Given the description of an element on the screen output the (x, y) to click on. 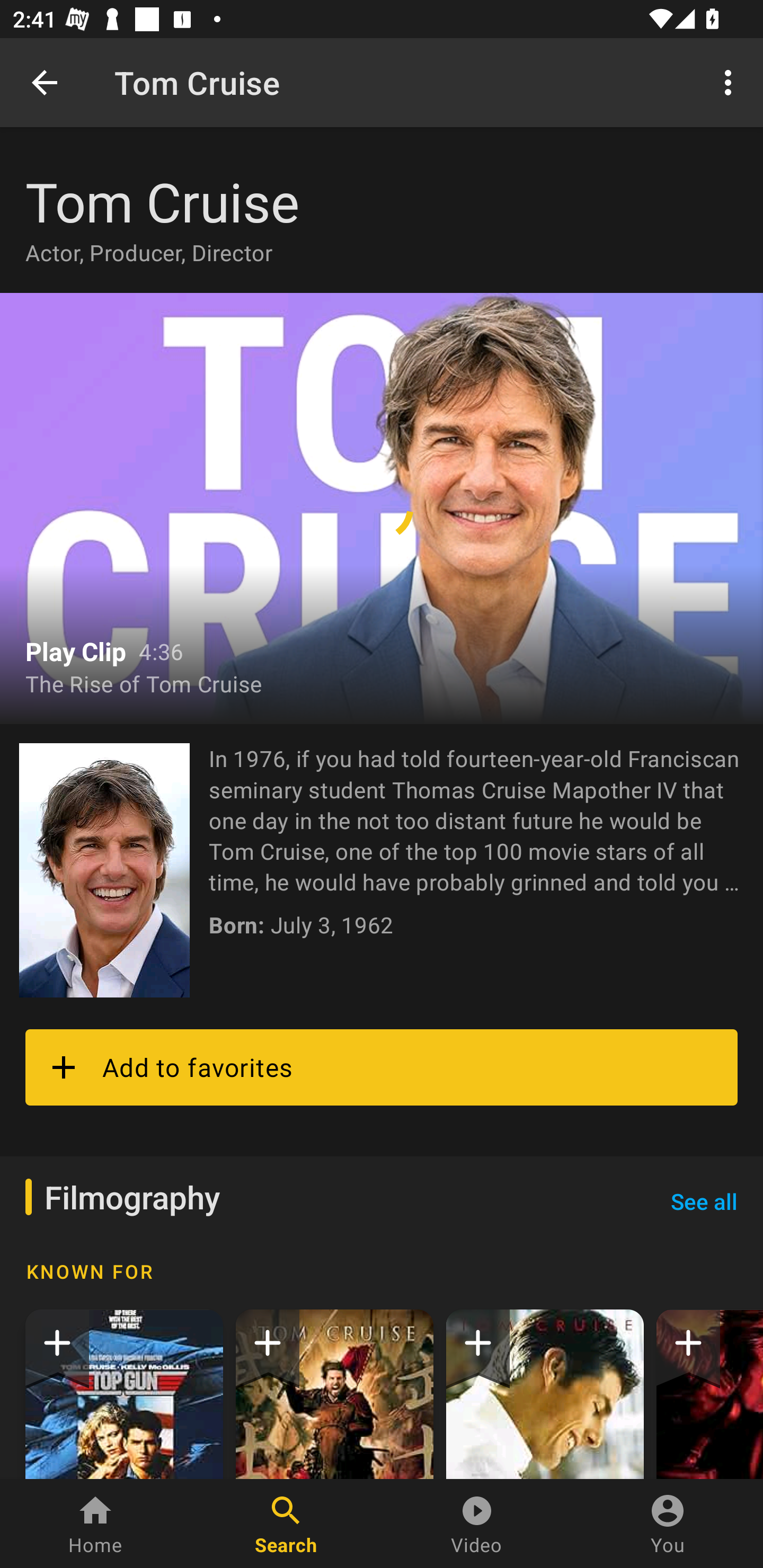
More options (731, 81)
Add to favorites (381, 1066)
See all See all  (703, 1201)
Home (95, 1523)
Video (476, 1523)
You (667, 1523)
